Given the description of an element on the screen output the (x, y) to click on. 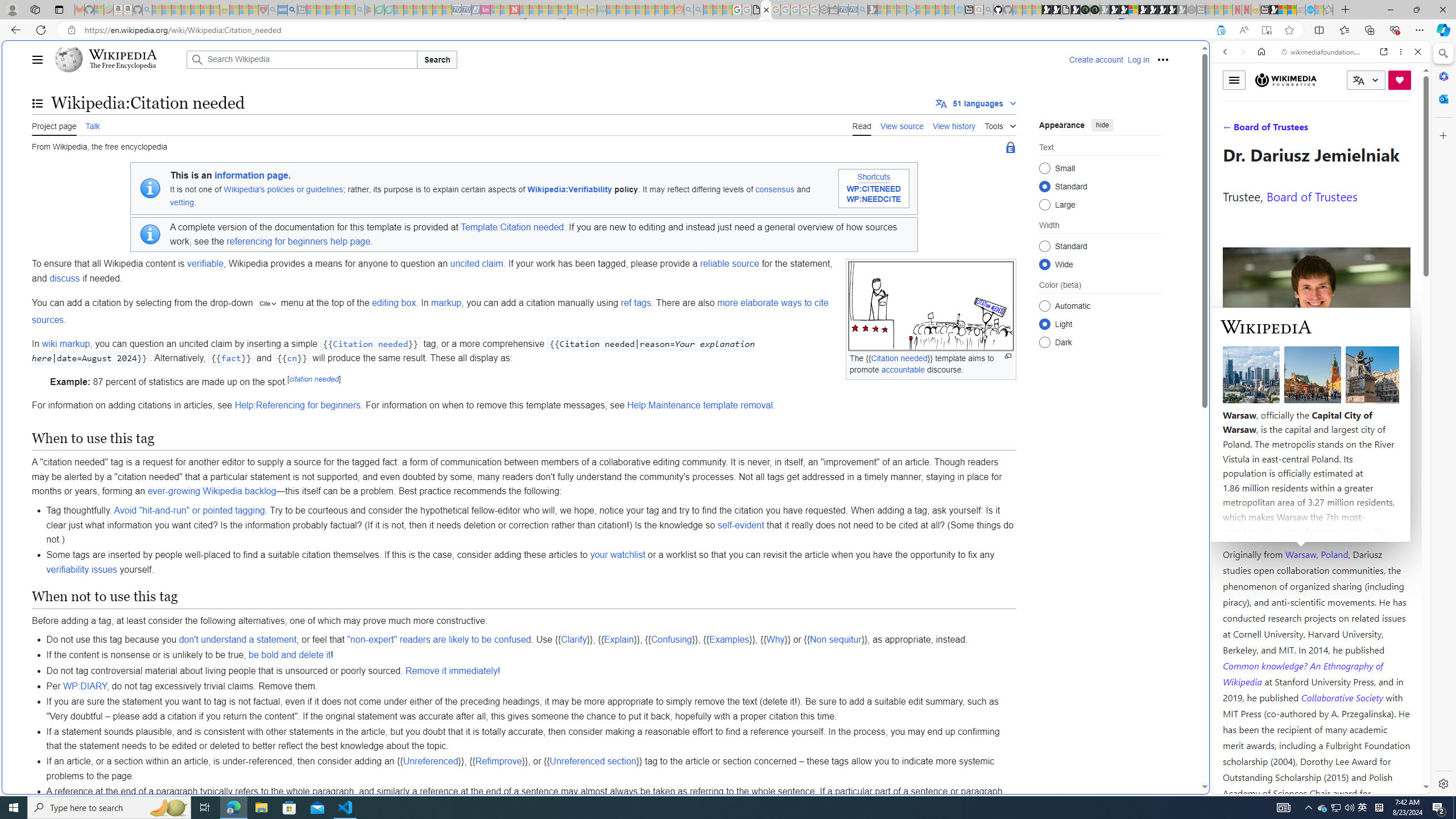
The Free Encyclopedia (121, 65)
Kozminski University (1316, 486)
Personal tools (1162, 59)
Small (1044, 167)
Common knowledge? An Ethnography of Wikipedia (1302, 672)
Standard (1044, 245)
don't understand a statement (238, 639)
Read (861, 124)
